Given the description of an element on the screen output the (x, y) to click on. 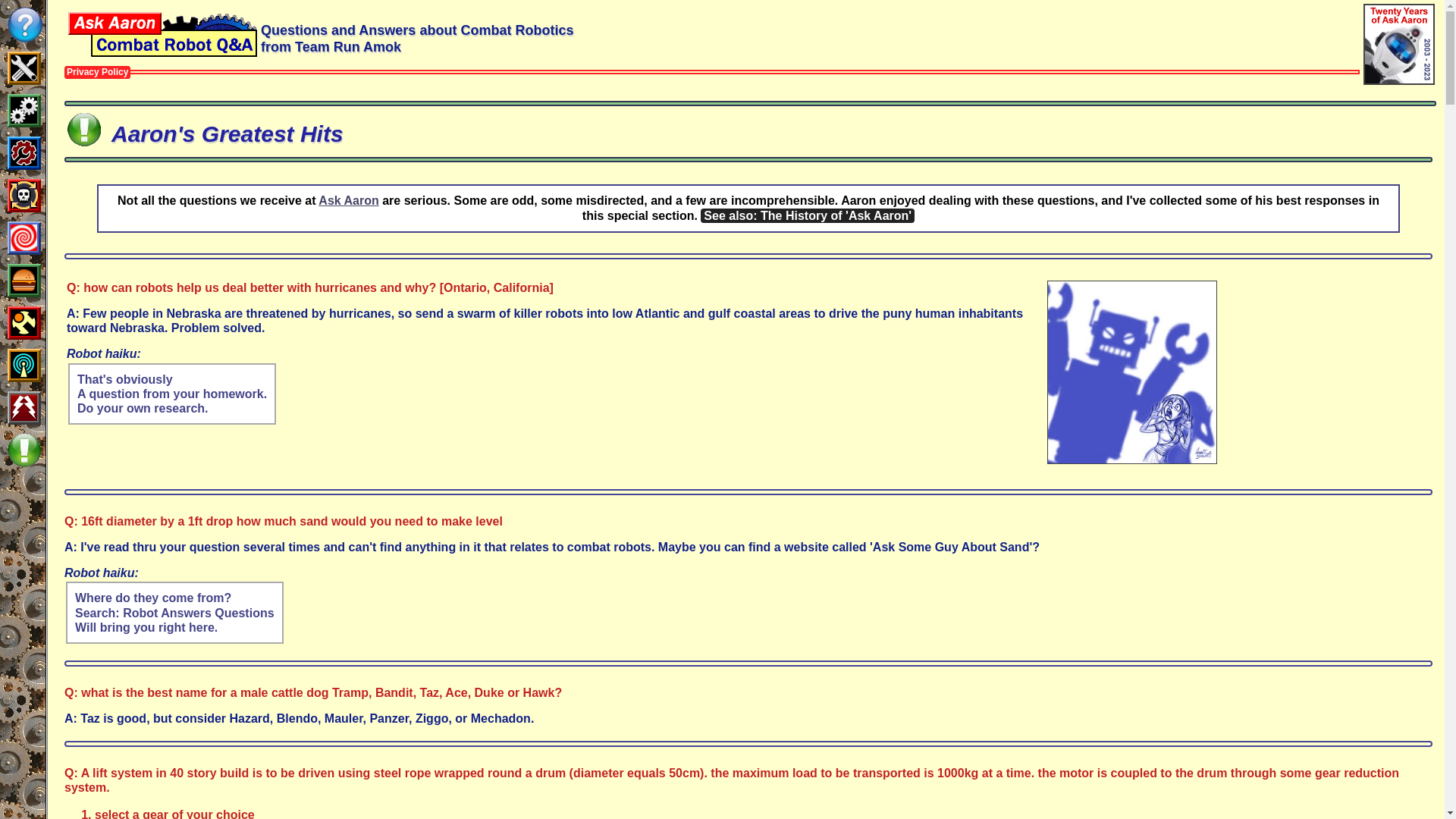
The Hamburger is Bad (23, 280)
Aaron's Greatest Hits (83, 129)
Lithum Polymer Battery FAQ (23, 407)
Combat Robot Design Tools (23, 67)
Optimum Robot Drivetrain Gearing (23, 153)
Solenoid and Relay Guide (23, 322)
Aaron's Greatest Hits (23, 450)
Radio Guides (23, 365)
Killer Robot drawing by Garrett Shikuma (1131, 372)
Tentacle Drivetrain Calculator (23, 110)
FAQ (24, 24)
Ask Aaron Spinner Weapon FAQ (23, 238)
Excel Spinner Spreadsheet (23, 195)
Ask Aaron (348, 200)
Privacy Policy (97, 71)
